Given the description of an element on the screen output the (x, y) to click on. 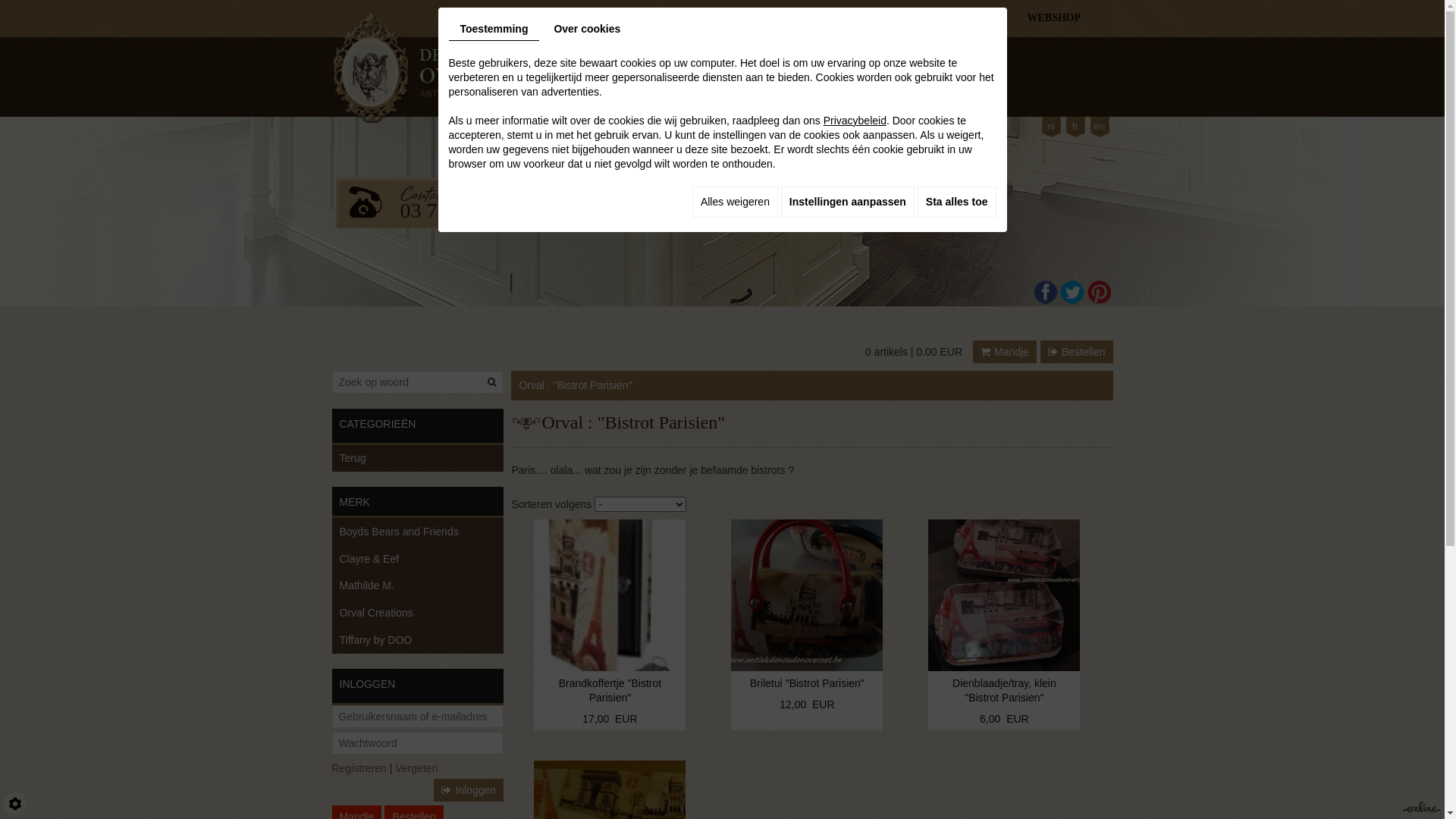
Den Ouden Overzet - Melsele Element type: hover (426, 67)
WEBSHOP Element type: text (1039, 17)
Den Ouden Overzet - pinterest Element type: hover (1099, 291)
Den Ouden Overzet - Twitter Element type: hover (1072, 291)
Nieuws Element type: text (802, 79)
Voorleggen Element type: text (493, 381)
Terug Element type: text (418, 458)
Den Ouden Overzet Element type: text (568, 79)
Briletui "Bistrot Parisien" Element type: hover (806, 595)
Sta alles toe Element type: text (956, 201)
Privacybeleid Element type: text (854, 120)
Fotogalerij Element type: text (851, 79)
Tiffany by DOO Element type: text (418, 640)
Bestellen Element type: text (1076, 351)
Contact Element type: text (935, 79)
Over cookies Element type: text (586, 29)
Wachtwoord Element type: hover (418, 742)
Den Ouden Overzet - Facebook Element type: hover (1044, 291)
Vergeten Element type: text (416, 768)
Links Element type: text (896, 79)
Brandkoffertje "Bistrot Parisien" Element type: hover (609, 595)
Instellingen aanpassen Element type: text (847, 201)
Clayre & Eef Element type: text (418, 559)
Toestemming Element type: text (493, 29)
Dienblaadje/tray, klein "Bistrot Parisien" Element type: hover (1003, 595)
Den Ouden Overzet - twitter Element type: hover (1072, 291)
Boyds Bears and Friends Element type: text (418, 531)
Registreren Element type: text (359, 768)
Alles weigeren Element type: text (735, 201)
Ons Bedrijf in beeld Element type: text (663, 79)
Orval Creations Element type: text (418, 612)
Den Ouden Overzet - Pinterest Element type: hover (1099, 291)
Contacteer ons
03 755 67 48 Element type: text (436, 202)
Inloggen Element type: text (468, 789)
Gebruikersnaam of e-mailadres Element type: hover (418, 716)
Cookie-instelling bewerken Element type: text (14, 803)
Dienblaadje/tray, klein "Bistrot Parisien" Element type: text (1003, 624)
Den Ouden Overzet - Melsele Element type: hover (426, 67)
Briletui "Bistrot Parisien" Element type: text (806, 617)
Brandkoffertje "Bistrot Parisien" Element type: text (609, 624)
MERK Element type: text (418, 501)
Den Ouden Overzet - Facebook Element type: hover (1044, 291)
Mathilde M. Element type: text (418, 585)
Mandje Element type: text (1004, 351)
Aanbiedingen Element type: text (746, 79)
